Given the description of an element on the screen output the (x, y) to click on. 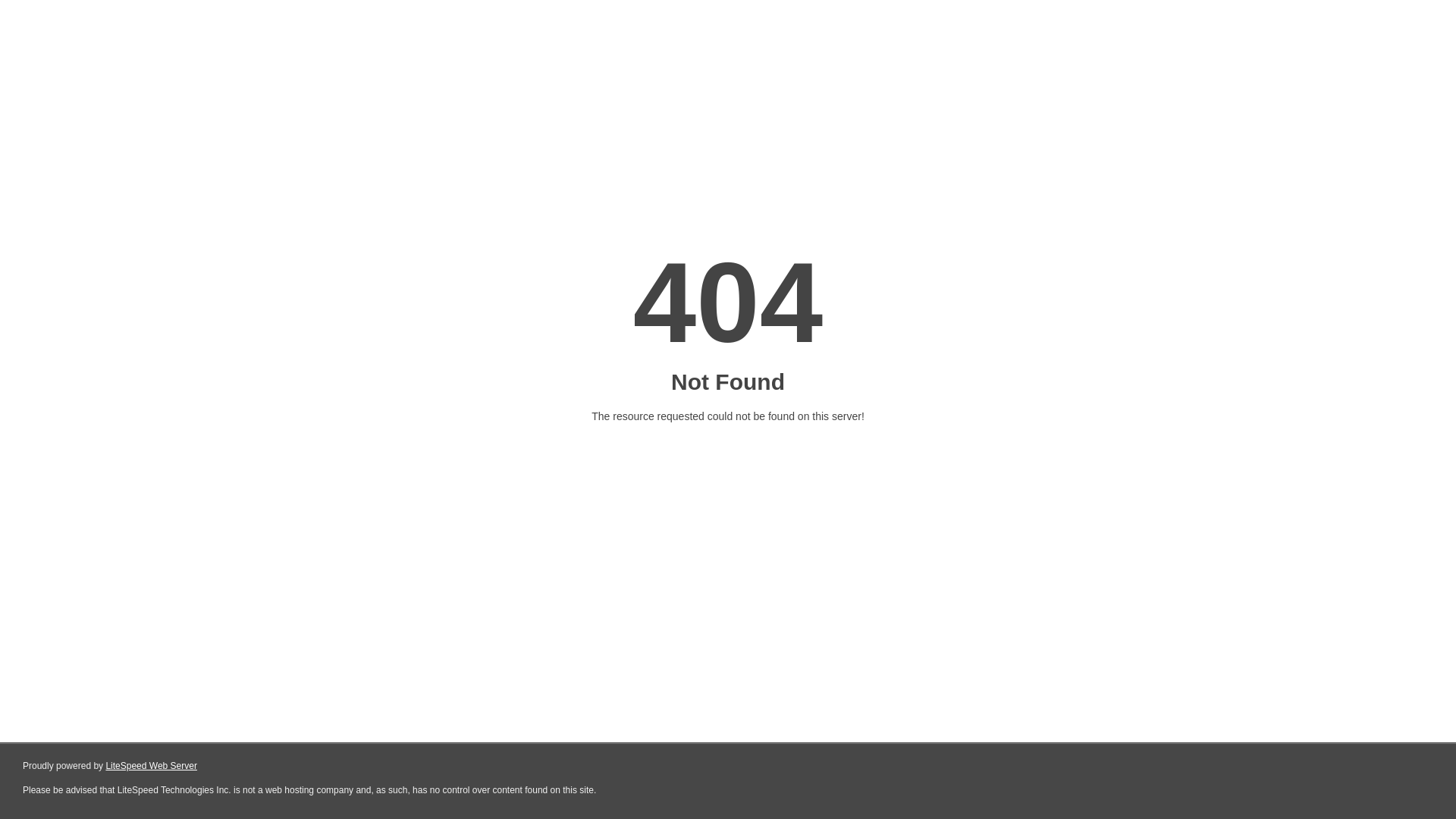
LiteSpeed Web Server Element type: text (151, 765)
